Given the description of an element on the screen output the (x, y) to click on. 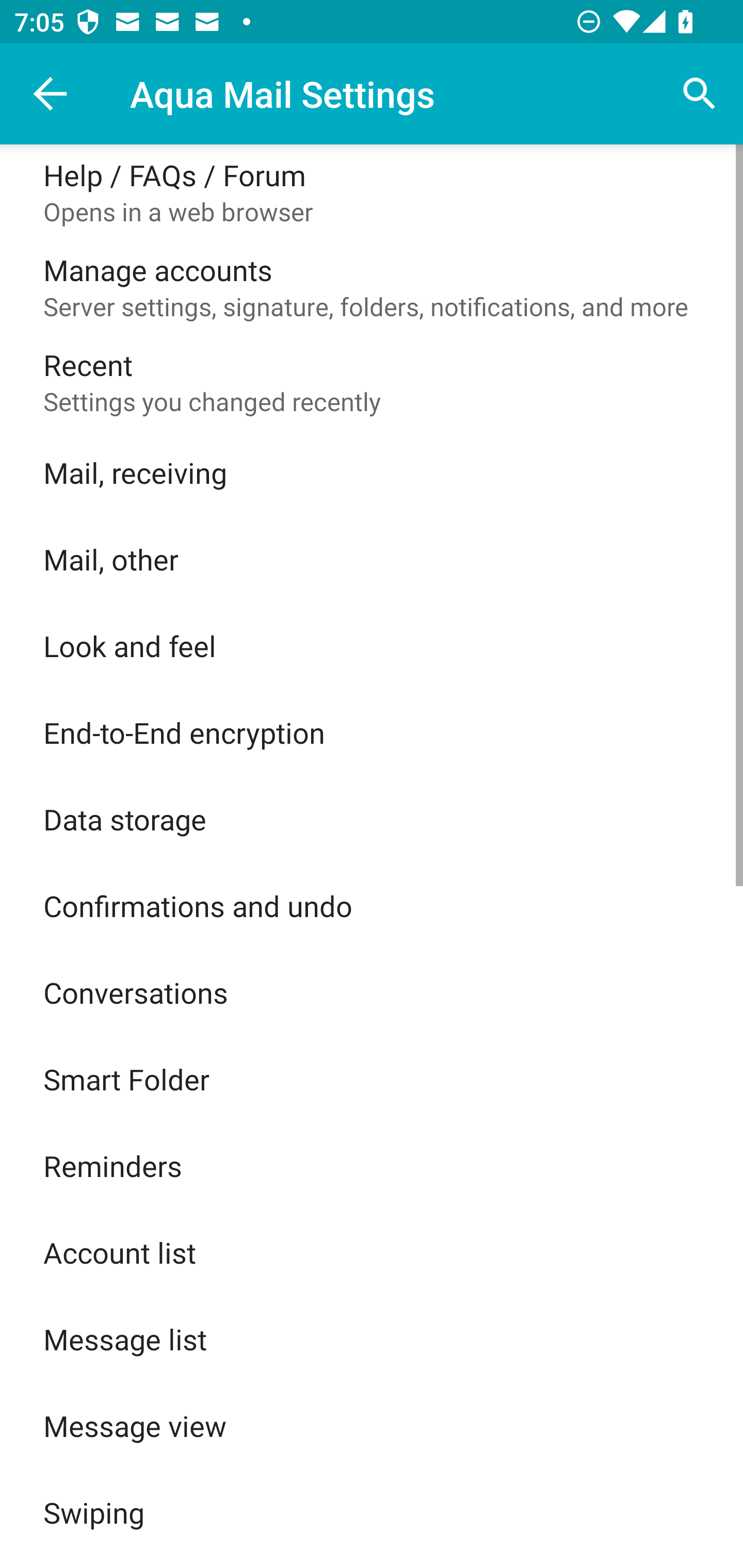
Navigate up (50, 93)
Search (699, 93)
Help / FAQs / Forum Opens in a web browser (371, 191)
Recent Settings you changed recently (371, 381)
Mail, receiving (371, 472)
Mail, other (371, 558)
Look and feel (371, 645)
End-to-End encryption (371, 732)
Data storage (371, 819)
Confirmations and undo (371, 905)
Conversations (371, 992)
Smart Folder (371, 1079)
Reminders (371, 1165)
Account list (371, 1251)
Message list (371, 1338)
Message view (371, 1425)
Swiping (371, 1512)
